Given the description of an element on the screen output the (x, y) to click on. 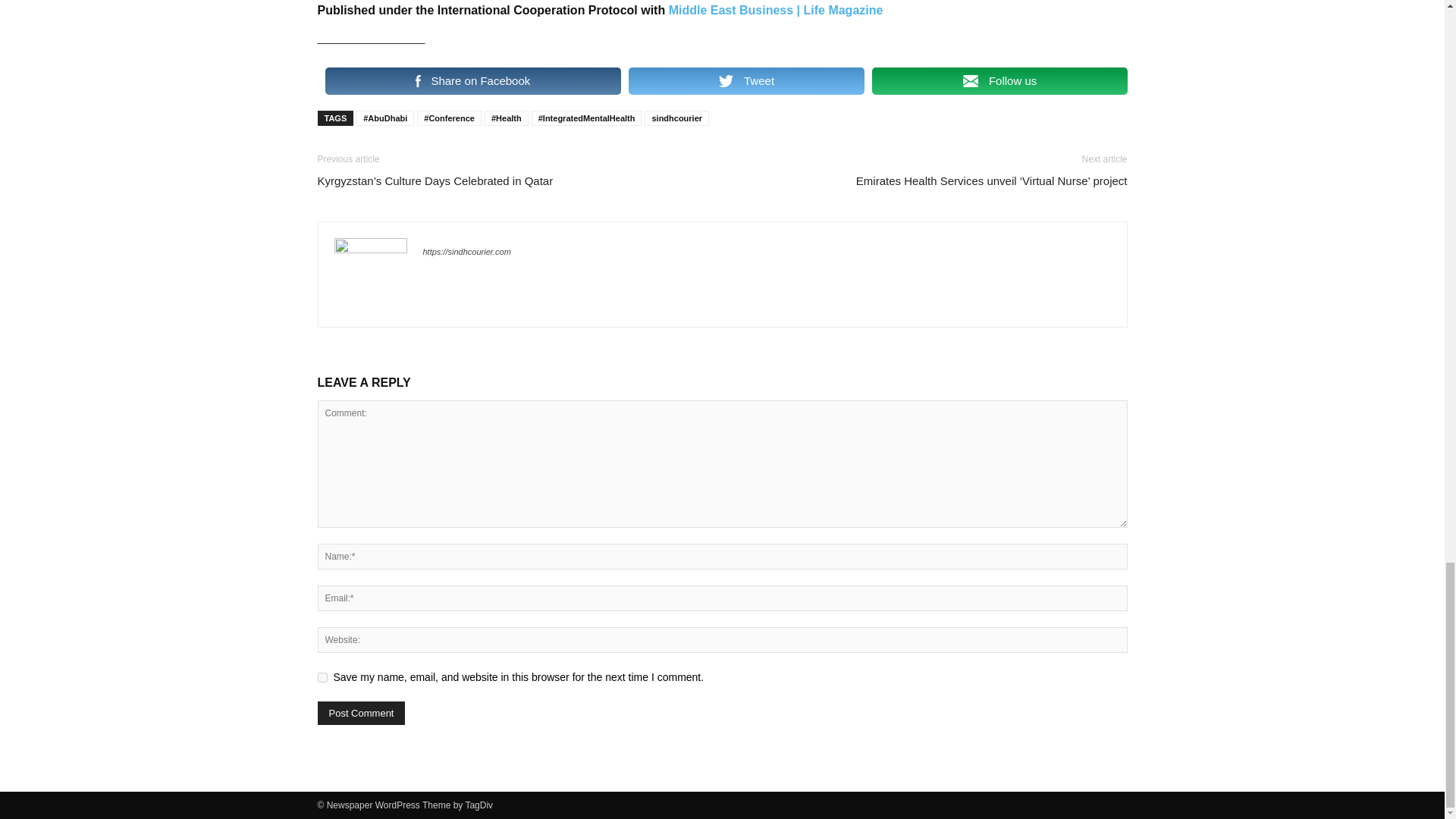
yes (321, 677)
Post Comment (360, 712)
Share on Facebook (472, 81)
Tweet (746, 81)
Follow us (999, 81)
